Given the description of an element on the screen output the (x, y) to click on. 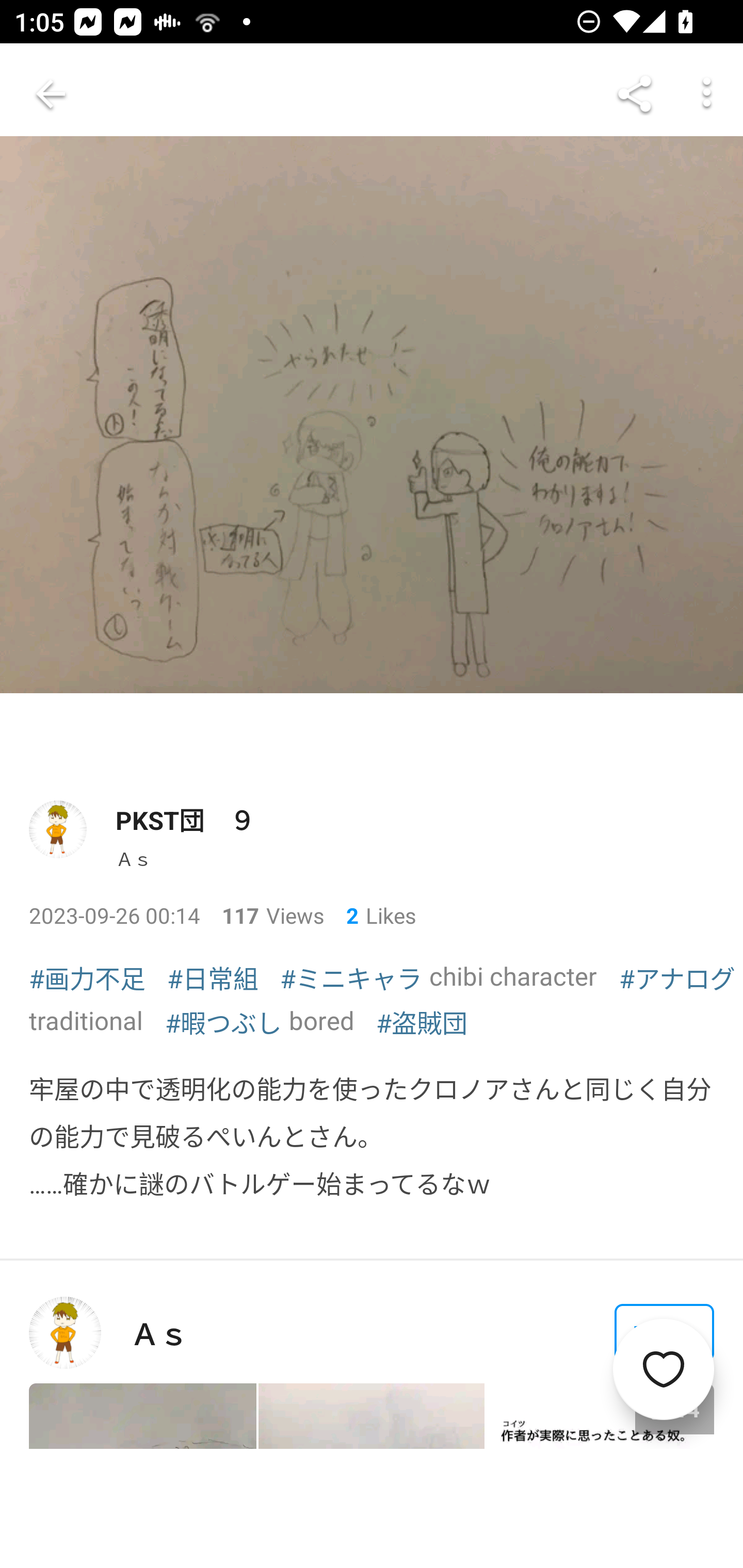
Share (634, 93)
More options (706, 93)
Ａｓ (133, 858)
2 (344, 914)
#画力不足 (86, 977)
#日常組 (212, 977)
#ミニキャラ (351, 977)
chibi character (513, 975)
#アナログ (676, 977)
traditional (85, 1020)
#暇つぶし (222, 1021)
bored (321, 1020)
#盗賊団 (421, 1021)
Ａｓ (158, 1332)
